Given the description of an element on the screen output the (x, y) to click on. 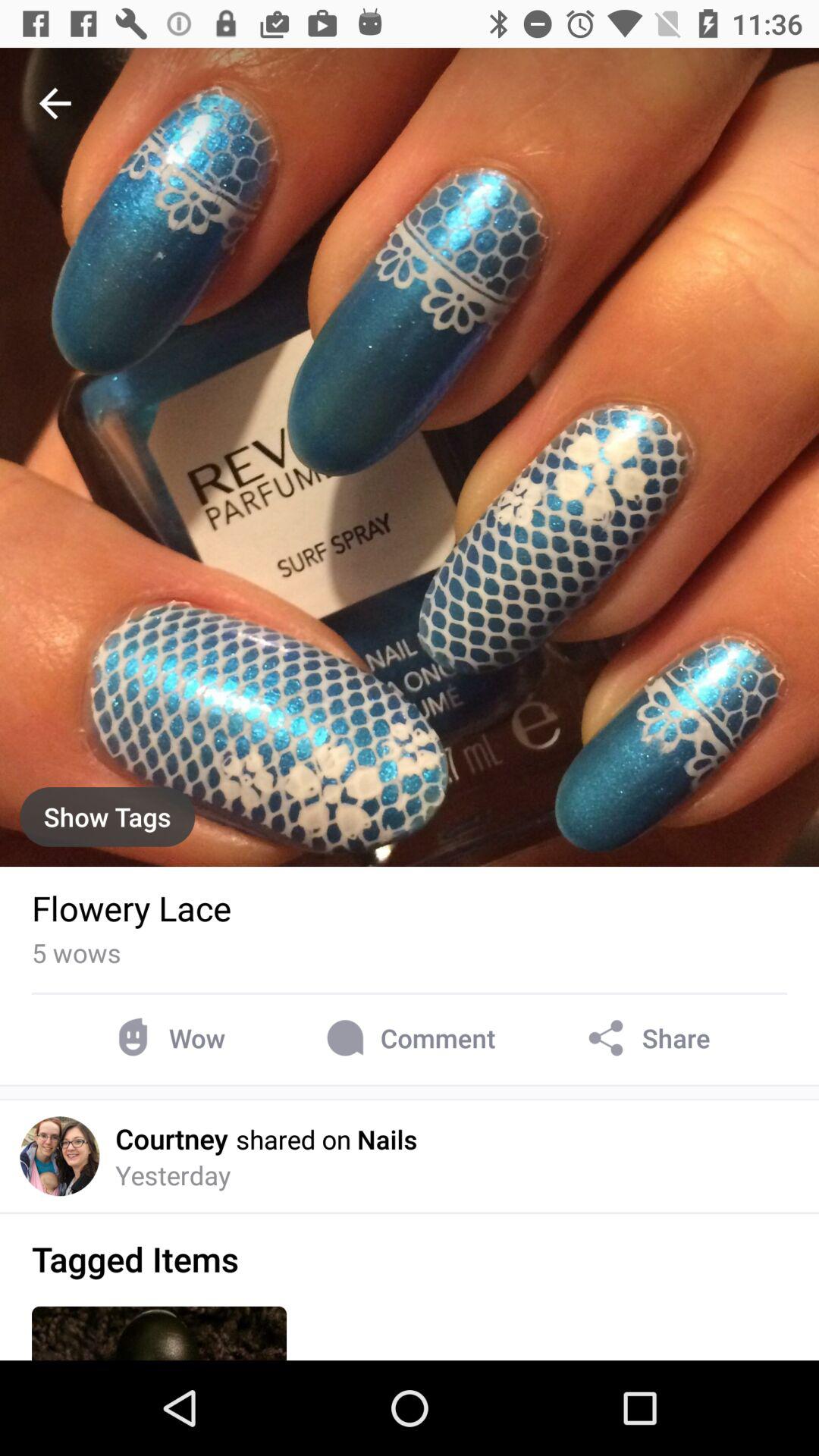
open item to the left of share (407, 1038)
